Given the description of an element on the screen output the (x, y) to click on. 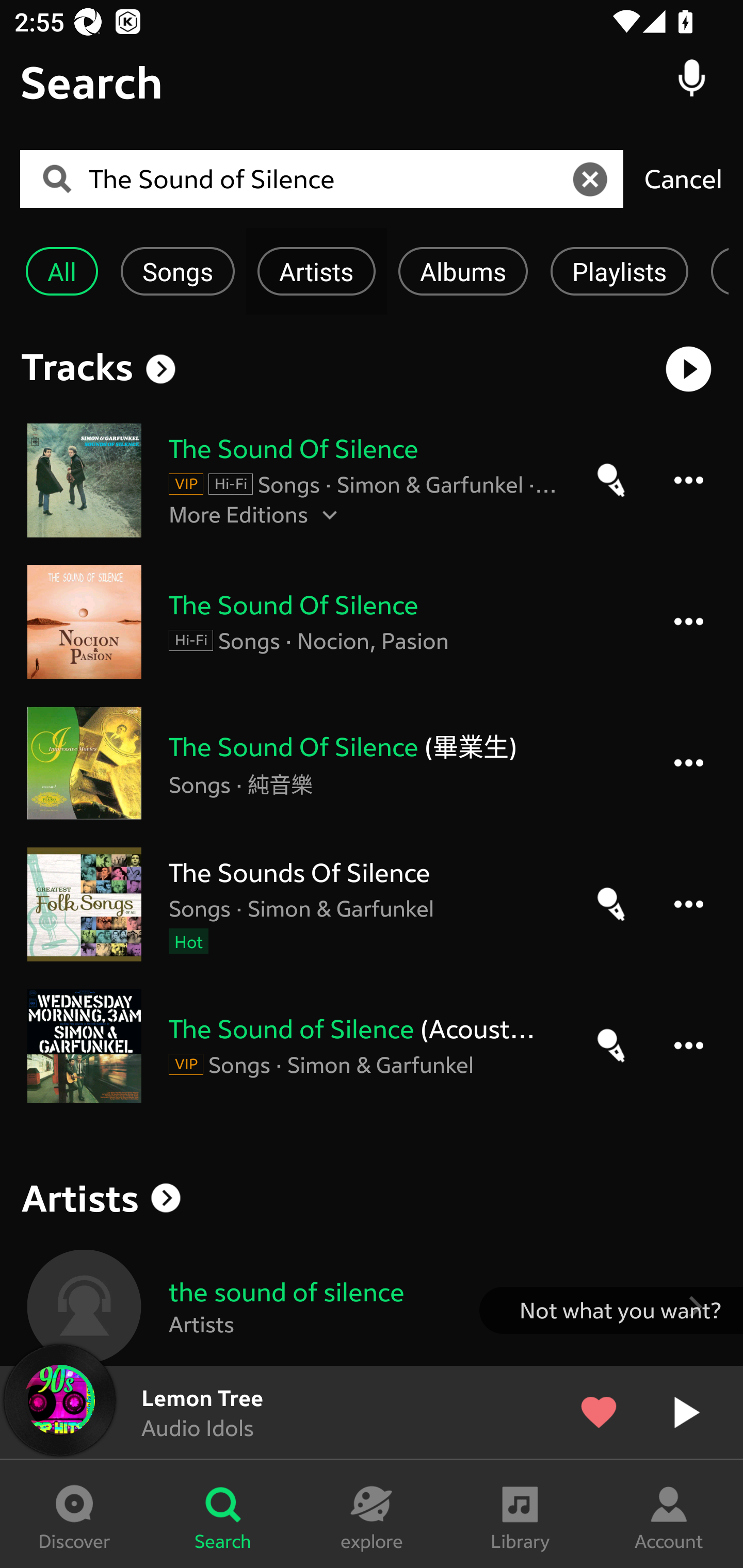
Cancel (683, 178)
The Sound of Silence (327, 179)
Songs (177, 271)
Artists (316, 271)
Albums (463, 271)
Playlists (619, 271)
Tracks (77, 365)
More Editions (363, 513)
The Sound Of Silence Hi-Fi Songs · Nocion, Pasion (371, 621)
The Sound Of Silence (畢業生) Songs · 純音樂 (371, 762)
Artists (371, 1197)
the sound of silence Artists (371, 1306)
Lemon Tree Audio Idols (371, 1412)
Discover (74, 1513)
explore (371, 1513)
Library (519, 1513)
Account (668, 1513)
